Given the description of an element on the screen output the (x, y) to click on. 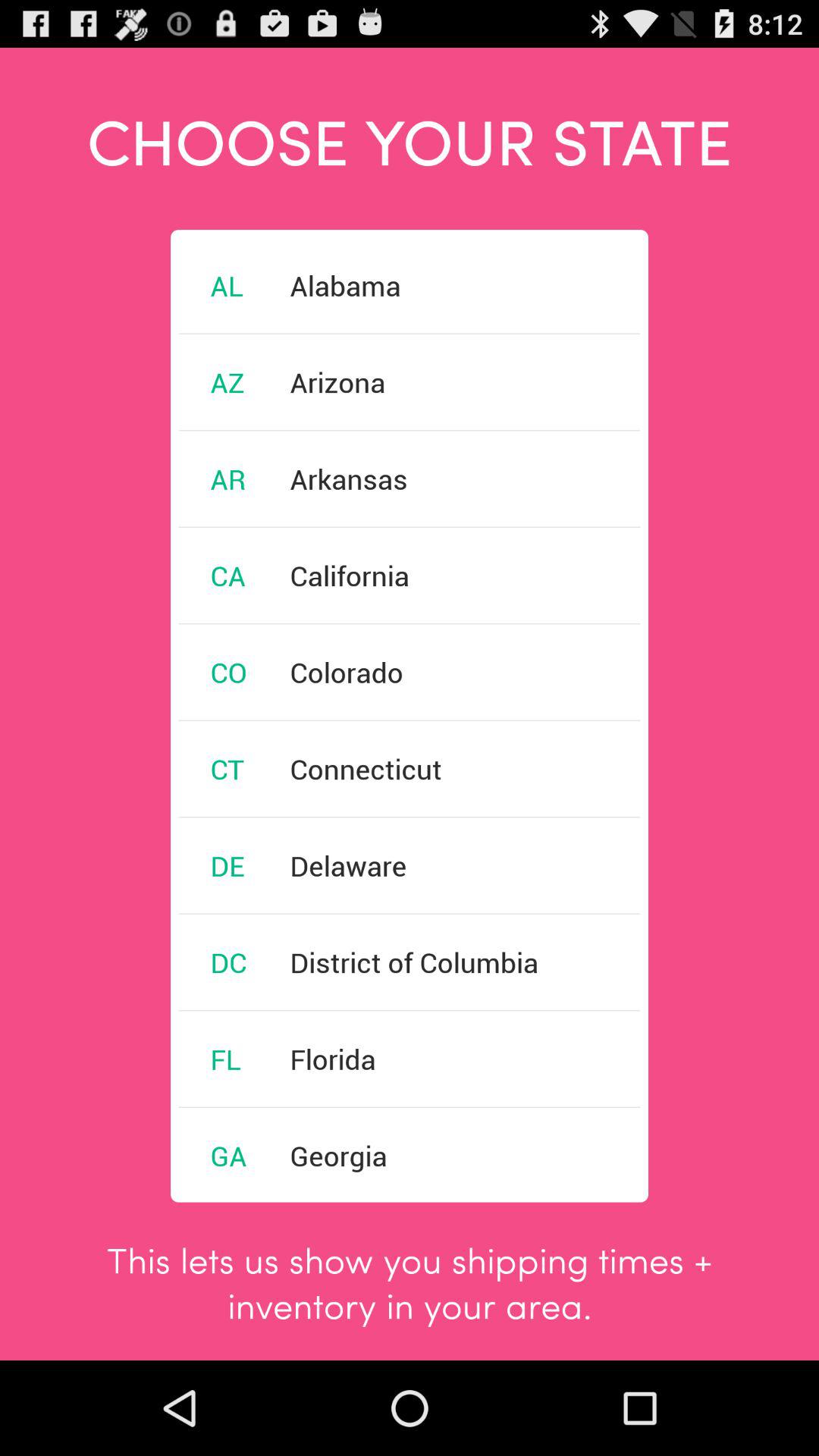
open the icon above ca item (227, 478)
